Given the description of an element on the screen output the (x, y) to click on. 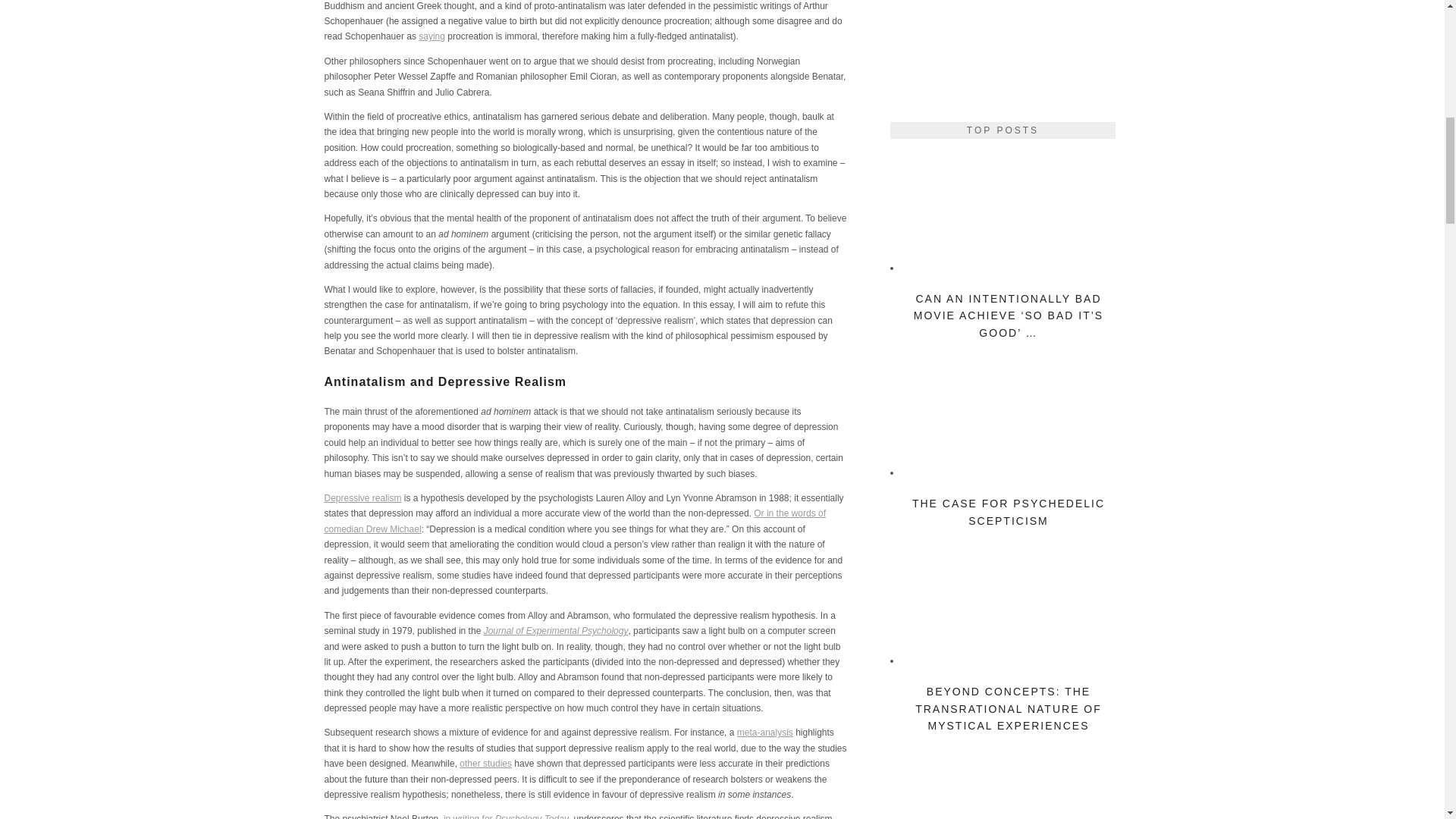
Or in the words of comedian Drew Michael (575, 520)
saying (432, 36)
other studies (486, 763)
in writing for Psychology Today (506, 816)
Journal of Experimental Psychology (555, 630)
meta-analysis (764, 732)
Depressive realism (362, 498)
